Given the description of an element on the screen output the (x, y) to click on. 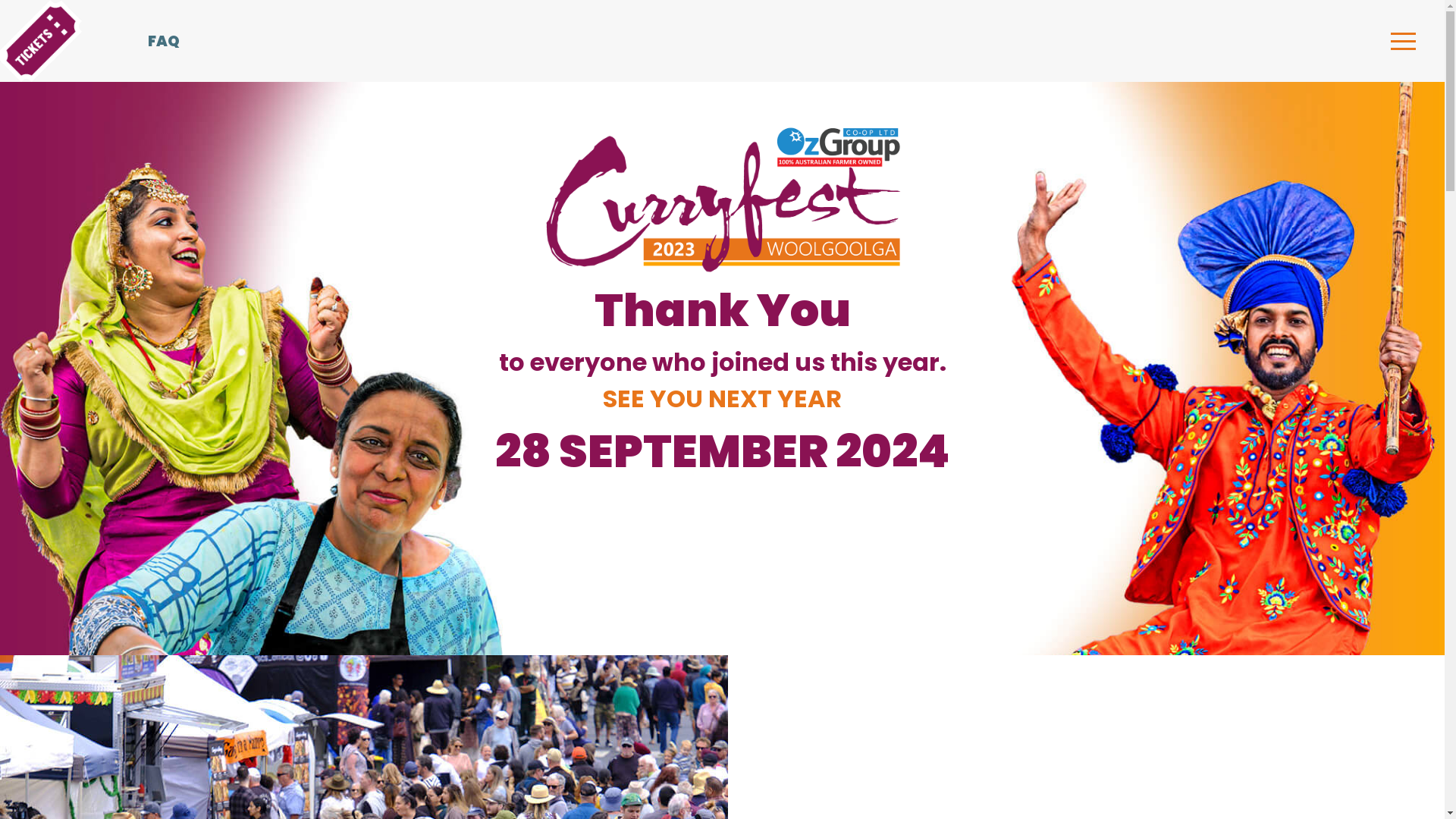
FAQ Element type: text (217, 41)
